Given the description of an element on the screen output the (x, y) to click on. 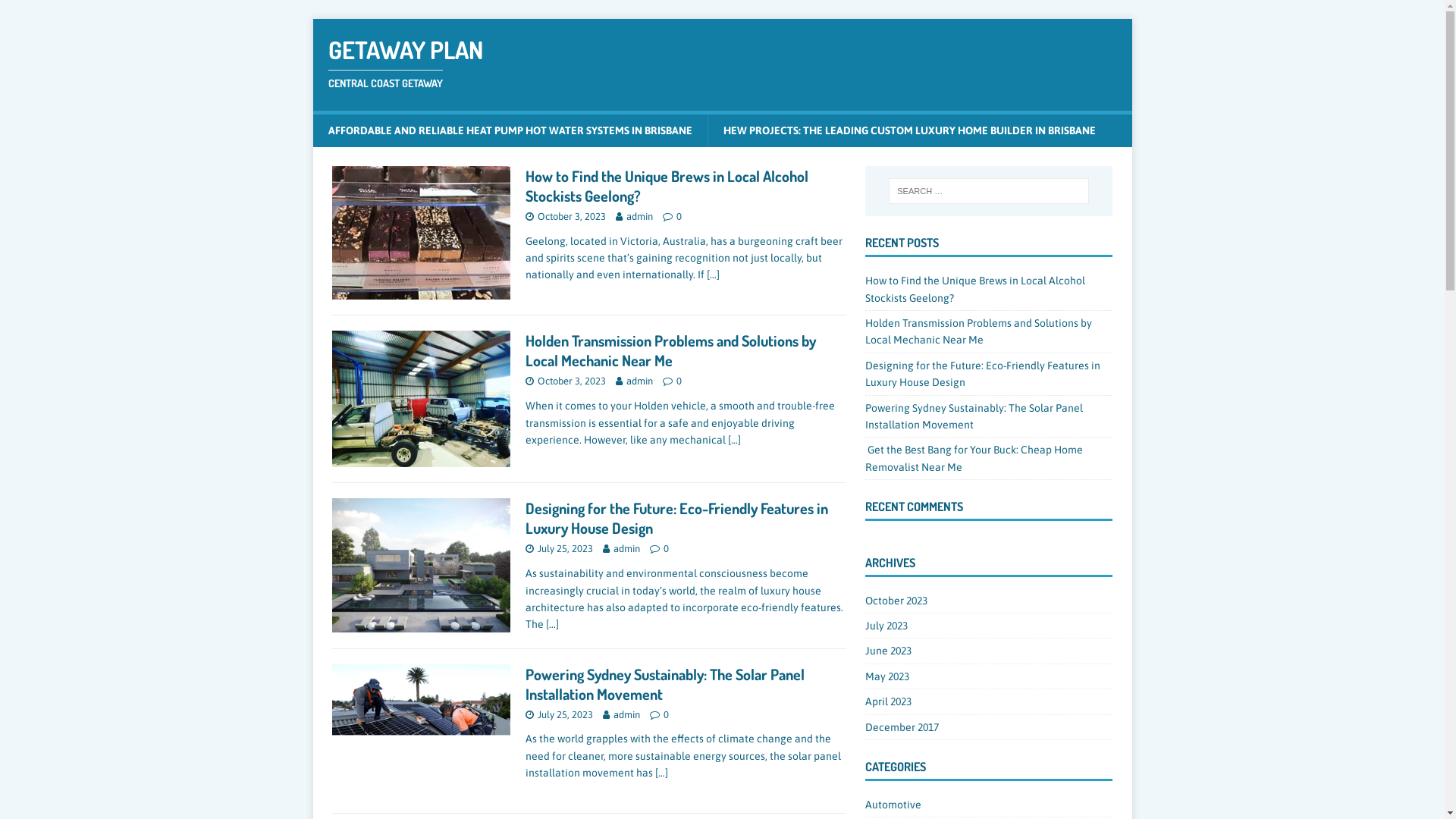
0 Element type: text (678, 216)
admin Element type: text (625, 714)
admin Element type: text (639, 216)
GETAWAY PLAN
CENTRAL COAST GETAWAY Element type: text (721, 63)
admin Element type: text (639, 380)
October 2023 Element type: text (988, 602)
June 2023 Element type: text (988, 650)
0 Element type: text (665, 548)
December 2017 Element type: text (988, 727)
0 Element type: text (678, 380)
admin Element type: text (625, 548)
0 Element type: text (665, 714)
April 2023 Element type: text (988, 701)
July 2023 Element type: text (988, 625)
Automotive Element type: text (988, 806)
May 2023 Element type: text (988, 676)
Search Element type: text (56, 11)
